Given the description of an element on the screen output the (x, y) to click on. 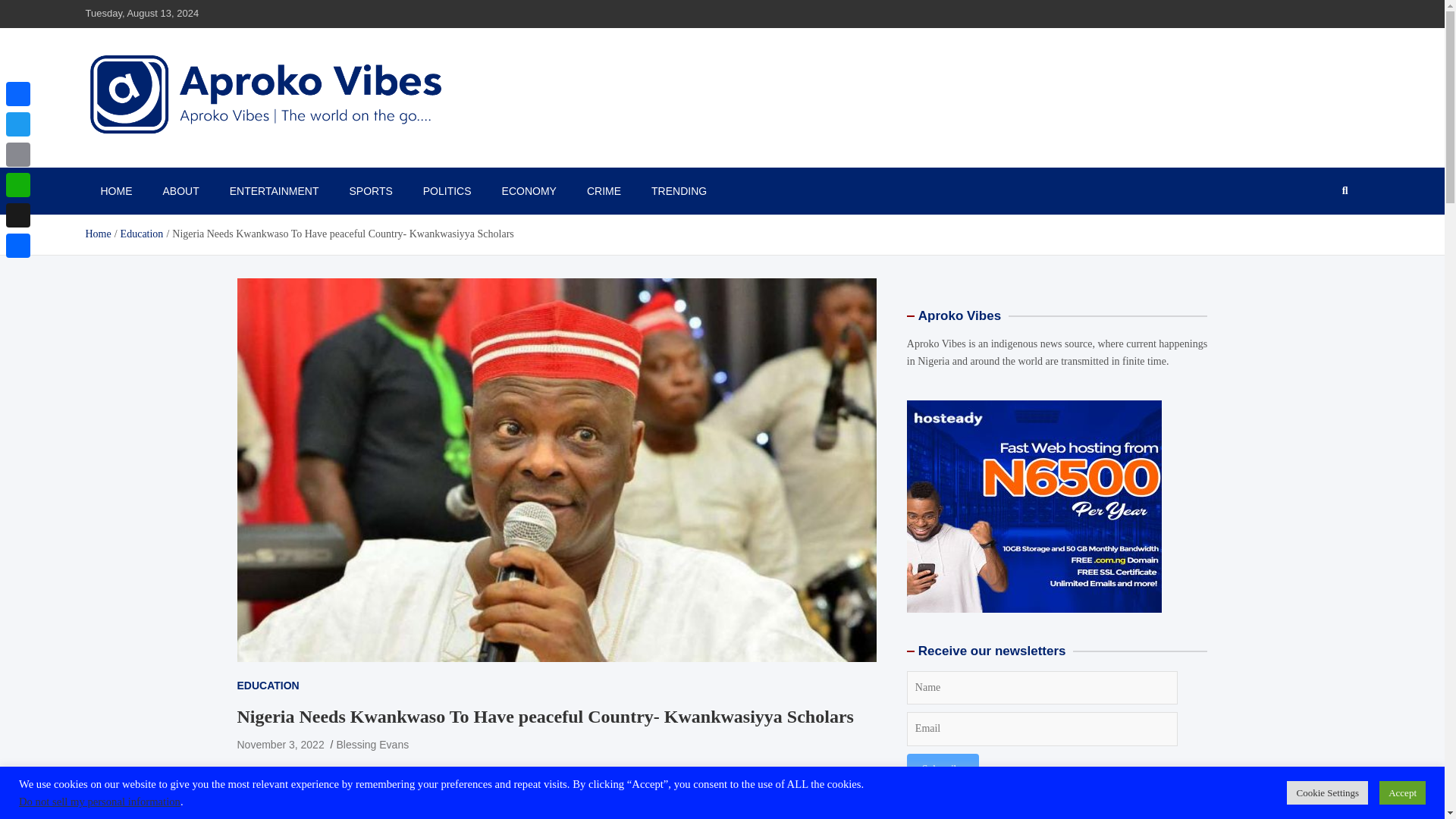
Aproko Vibes (155, 159)
ECONOMY (529, 190)
ENTERTAINMENT (274, 190)
CRIME (604, 190)
EDUCATION (266, 685)
Share (403, 781)
Digg (373, 781)
Twitter (281, 781)
November 3, 2022 (279, 744)
